Given the description of an element on the screen output the (x, y) to click on. 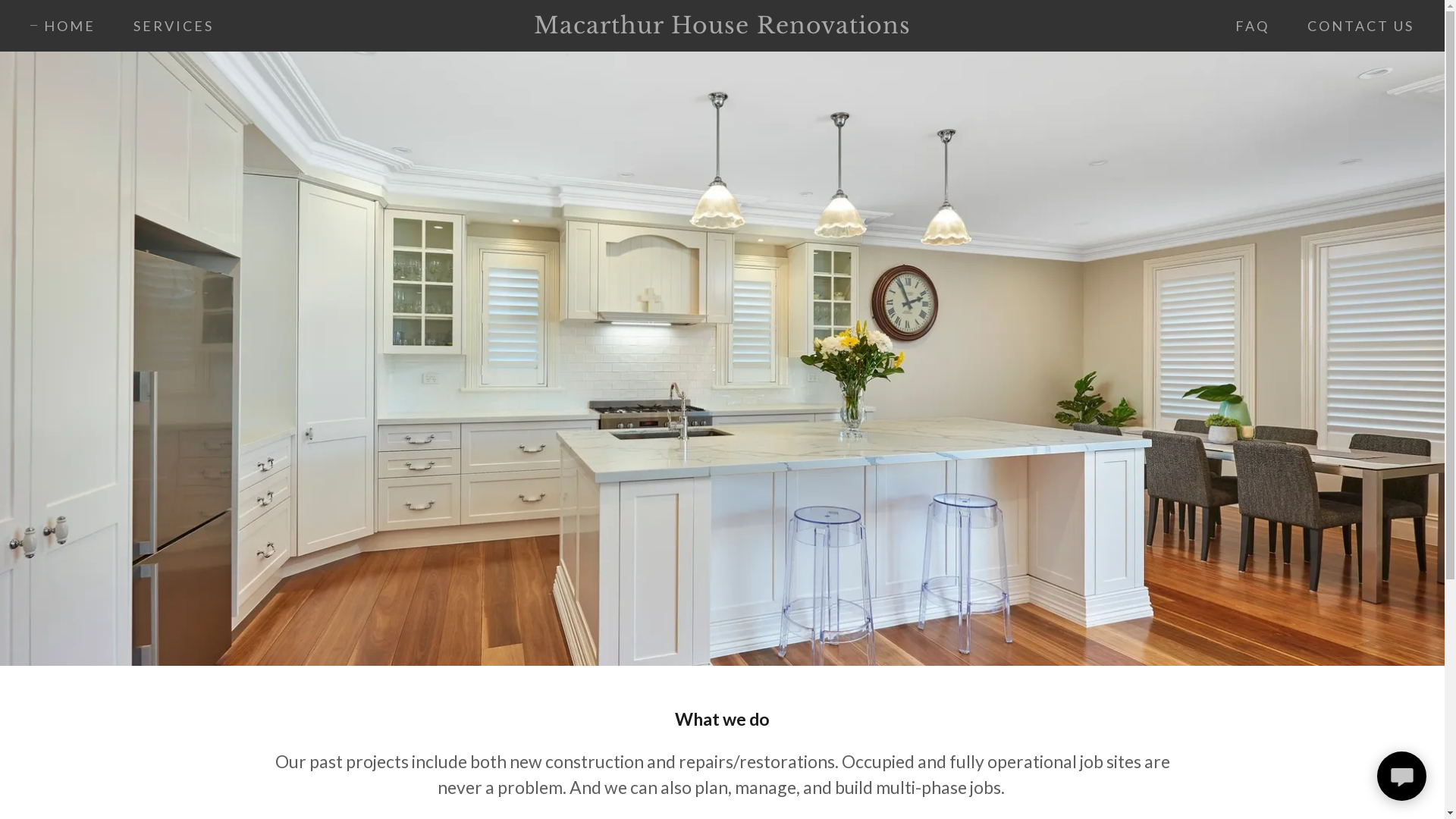
SERVICES Element type: text (166, 25)
CONTACT US Element type: text (1353, 25)
FAQ Element type: text (1245, 25)
HOME Element type: text (62, 25)
Macarthur House Renovations Element type: text (721, 26)
